Given the description of an element on the screen output the (x, y) to click on. 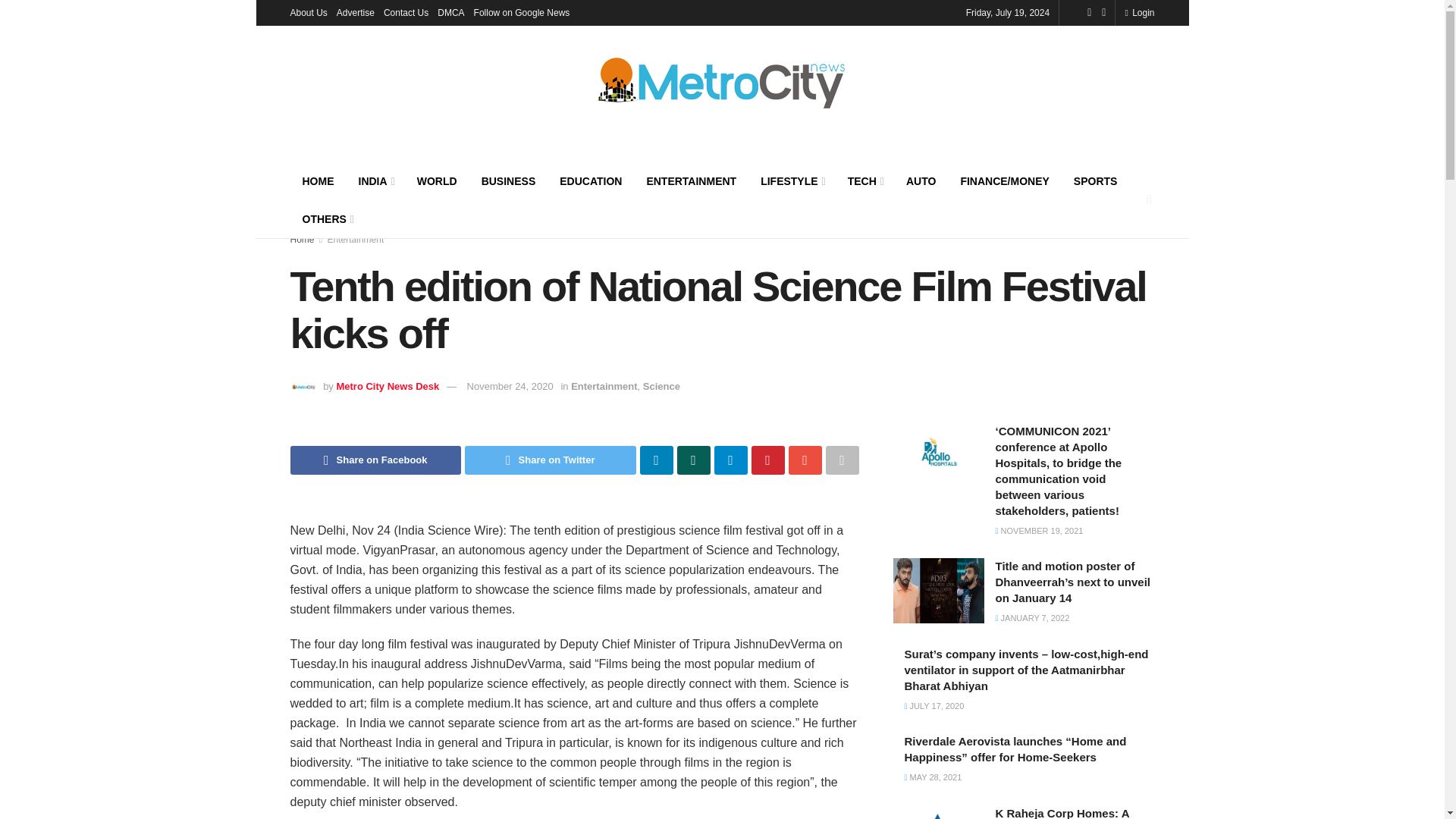
About Us (307, 12)
SPORTS (1095, 180)
LIFESTYLE (791, 180)
ENTERTAINMENT (690, 180)
Advertise (355, 12)
INDIA (375, 180)
EDUCATION (590, 180)
Login (1139, 12)
DMCA (451, 12)
WORLD (436, 180)
TECH (864, 180)
AUTO (920, 180)
OTHERS (325, 218)
HOME (317, 180)
Contact Us (406, 12)
